Given the description of an element on the screen output the (x, y) to click on. 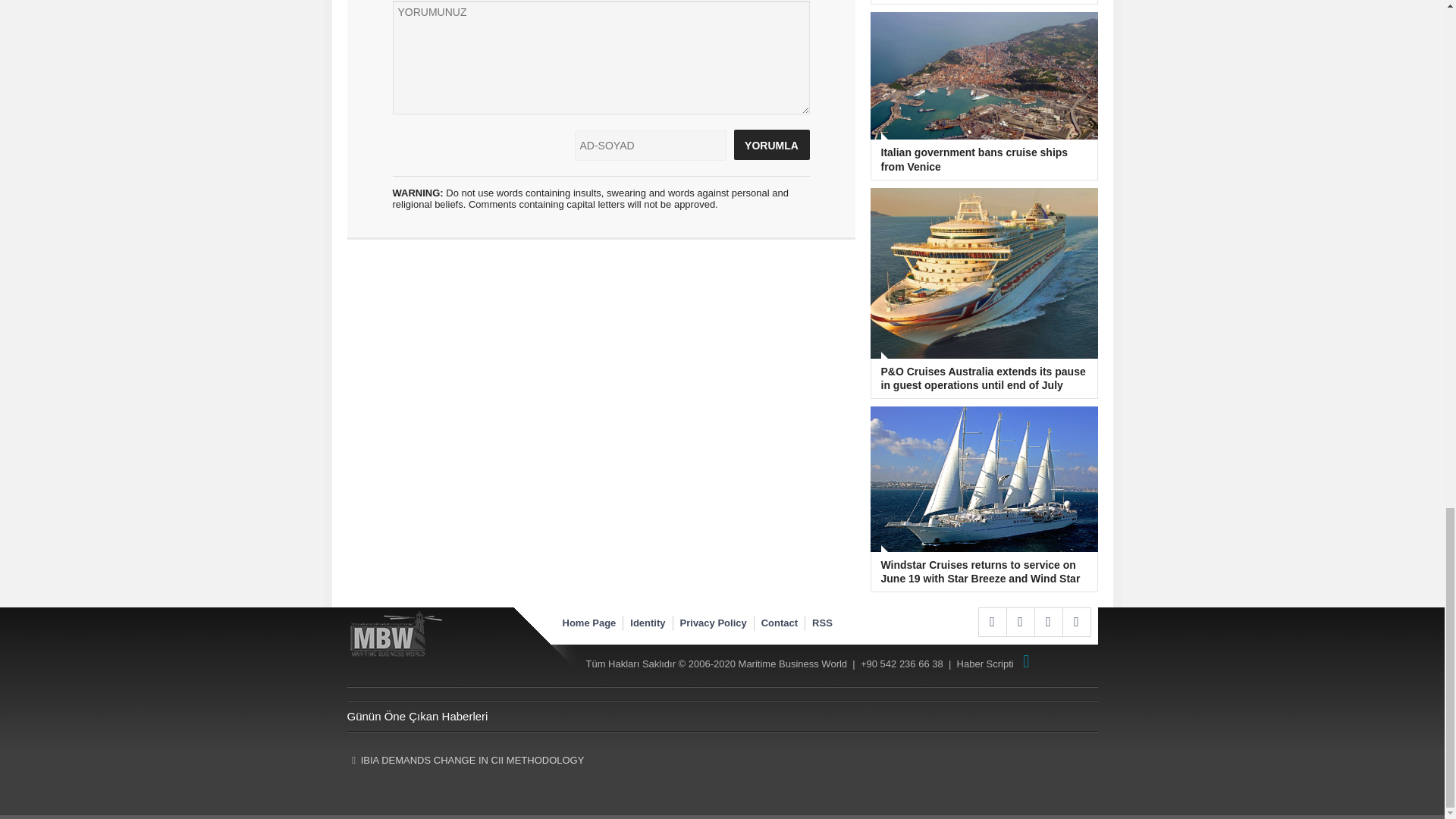
YORUMLA (771, 144)
RSS, News Feed, Haber Beslemesi (1019, 622)
Facebook ile takip et (992, 622)
